Given the description of an element on the screen output the (x, y) to click on. 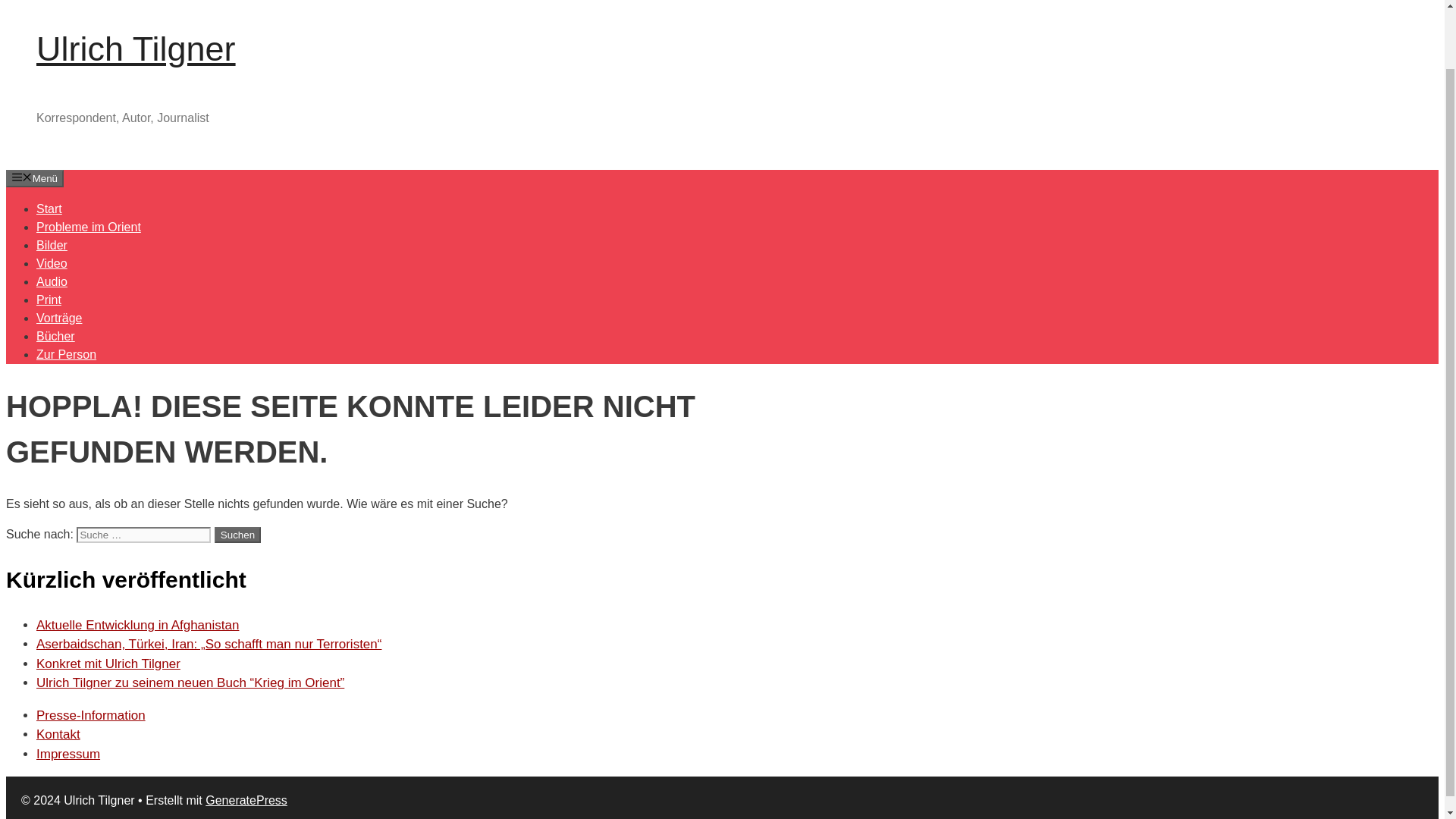
Suche nach: (144, 534)
Audio (51, 280)
Kontakt (58, 734)
Suchen (237, 534)
Suchen (237, 534)
Konkret mit Ulrich Tilgner (108, 663)
GeneratePress (245, 799)
Probleme im Orient (88, 226)
Aktuelle Entwicklung in Afghanistan (137, 625)
Start (49, 207)
